Given the description of an element on the screen output the (x, y) to click on. 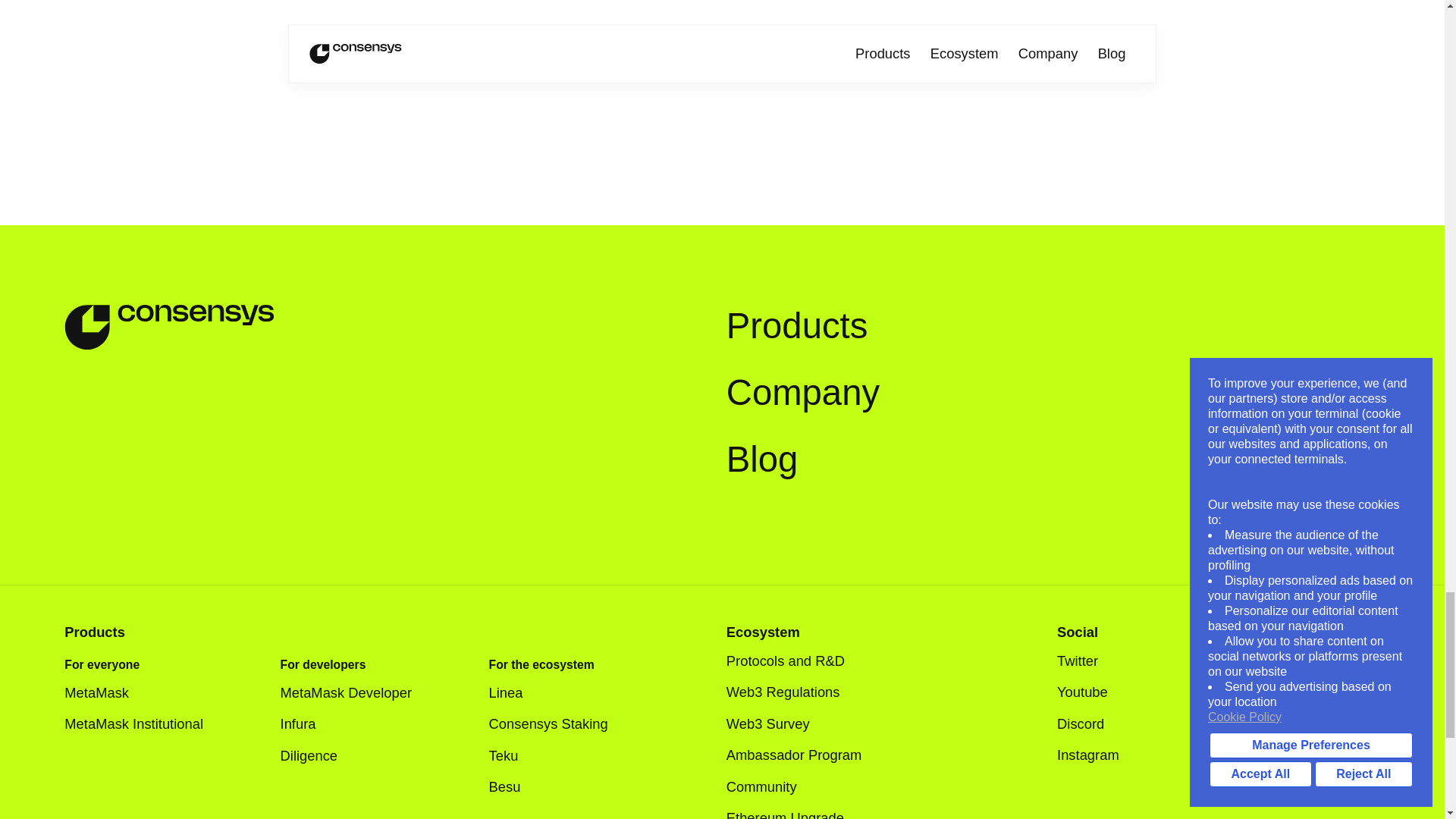
Blog (761, 459)
Consensys Staking (548, 723)
Consensys (169, 327)
Infura (309, 723)
Linea (516, 692)
For everyone (101, 664)
MetaMask Developer (357, 692)
For the ecosystem (541, 664)
For developers (323, 664)
Diligence (320, 755)
Products (796, 326)
Company (802, 392)
MetaMask Institutional (144, 723)
MetaMask (107, 692)
